Given the description of an element on the screen output the (x, y) to click on. 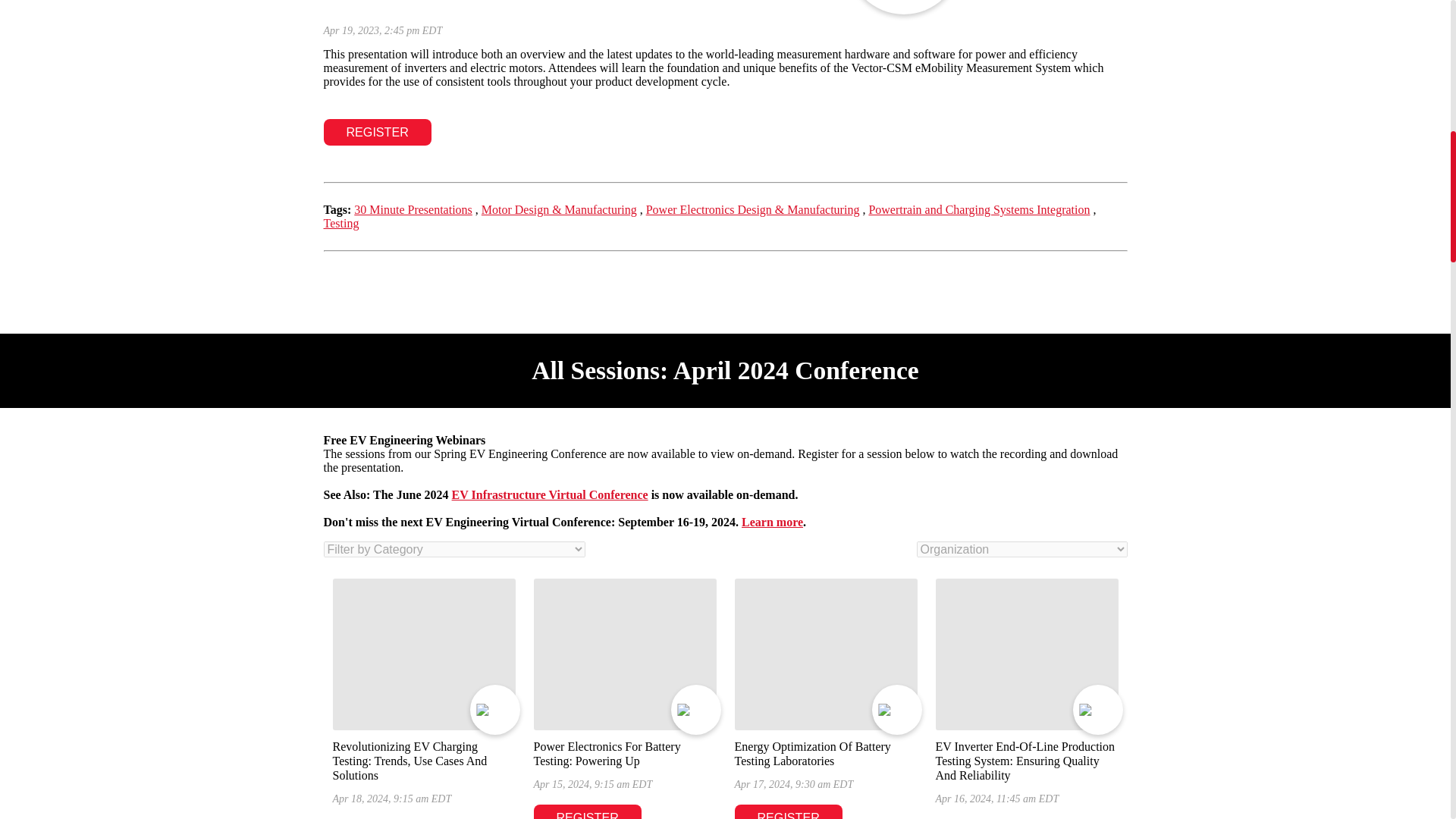
Energy Optimization Of Battery Testing Laboratories (811, 753)
Register (588, 811)
Register (376, 131)
Energy Optimization Of Battery Testing Laboratories (825, 654)
Power Electronics For Battery Testing: Powering Up (607, 753)
Register (787, 811)
Power Electronics For Battery Testing: Powering Up (625, 654)
